Given the description of an element on the screen output the (x, y) to click on. 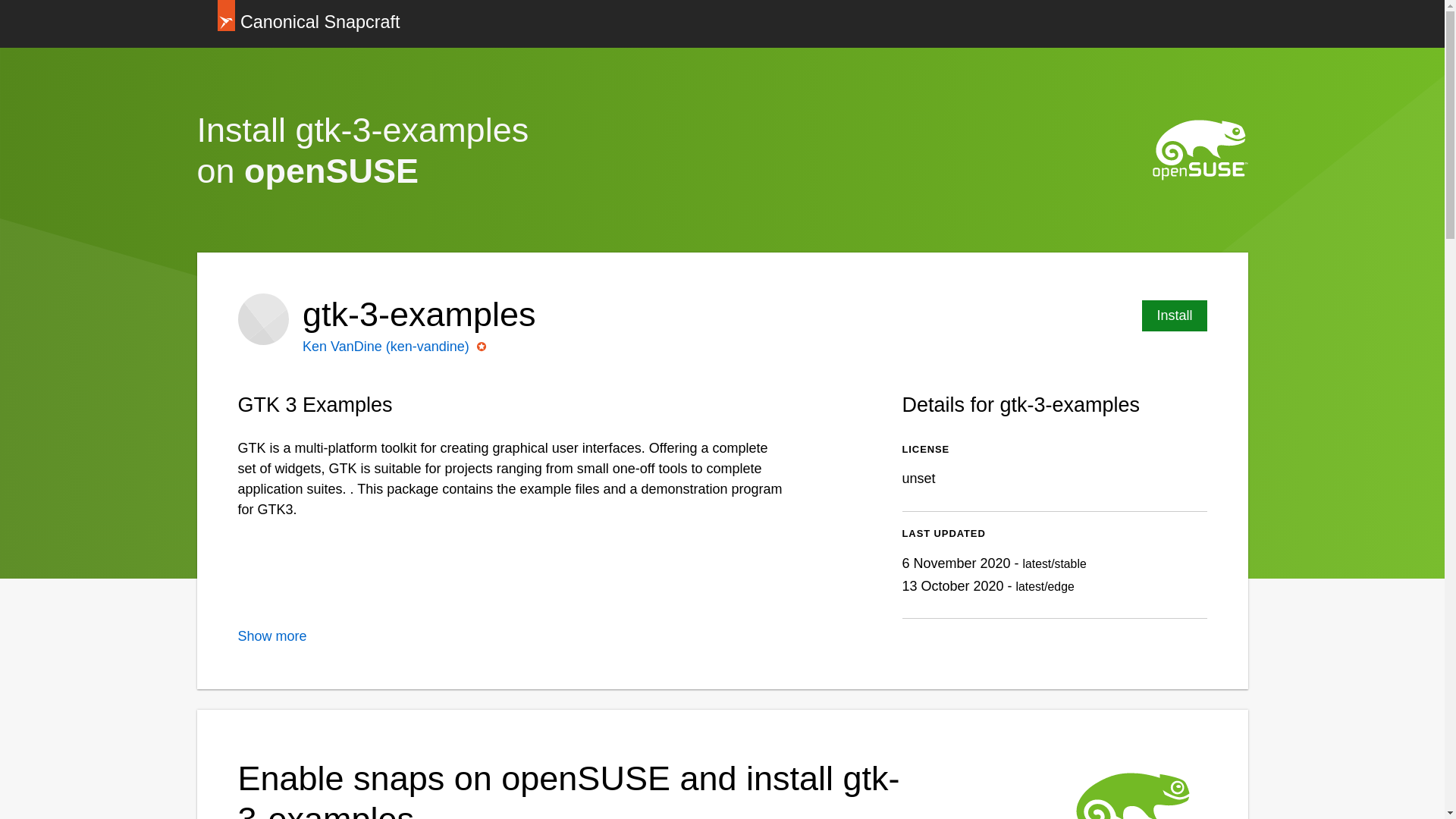
Canonical Snapcraft (307, 23)
Install (1174, 315)
Show more (272, 635)
